Given the description of an element on the screen output the (x, y) to click on. 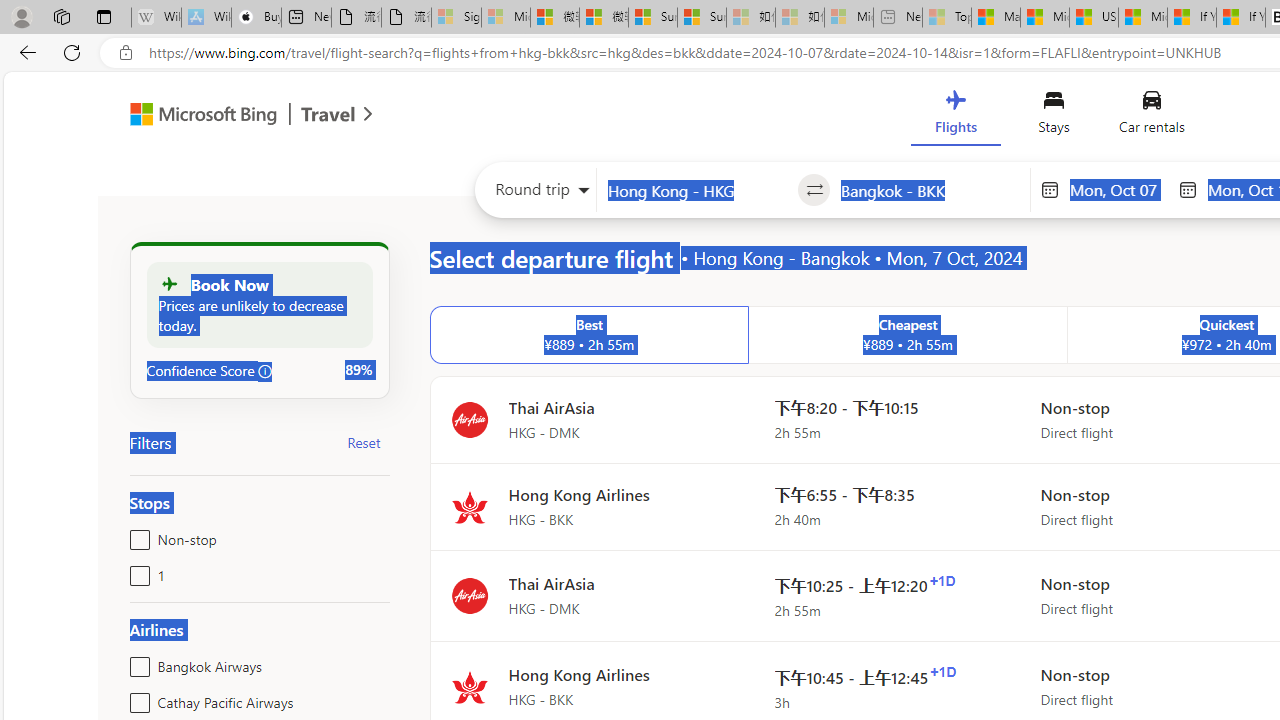
Class: msft-travel-logo (328, 114)
Leaving from? (697, 190)
Reset (363, 442)
Bangkok Airways (136, 662)
Flight logo (469, 687)
Select trip type (535, 193)
Start Date (1118, 189)
Class: autosuggest-container full-height no-y-padding (930, 190)
